Given the description of an element on the screen output the (x, y) to click on. 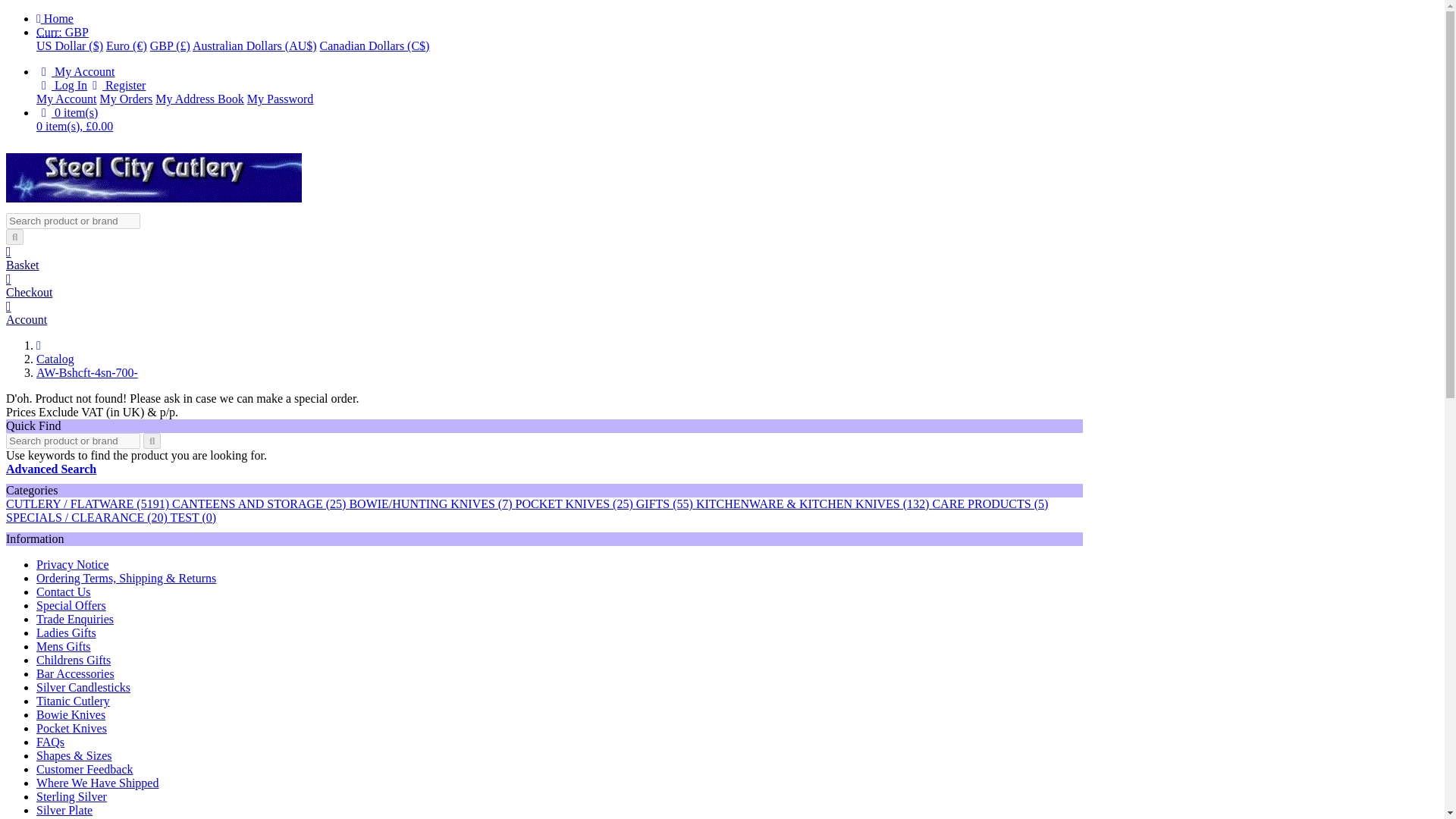
Basket (544, 257)
My Password (280, 98)
Checkout (544, 291)
Log In (61, 84)
Account (544, 319)
Trade Enquiries (74, 618)
Catalog (55, 358)
Register (116, 84)
My Account (75, 71)
AW-Bshcft-4sn-700- (87, 372)
Contact Us (63, 591)
Special Offers (71, 604)
Home (55, 18)
Privacy Notice (72, 563)
Advanced Search (50, 468)
